Given the description of an element on the screen output the (x, y) to click on. 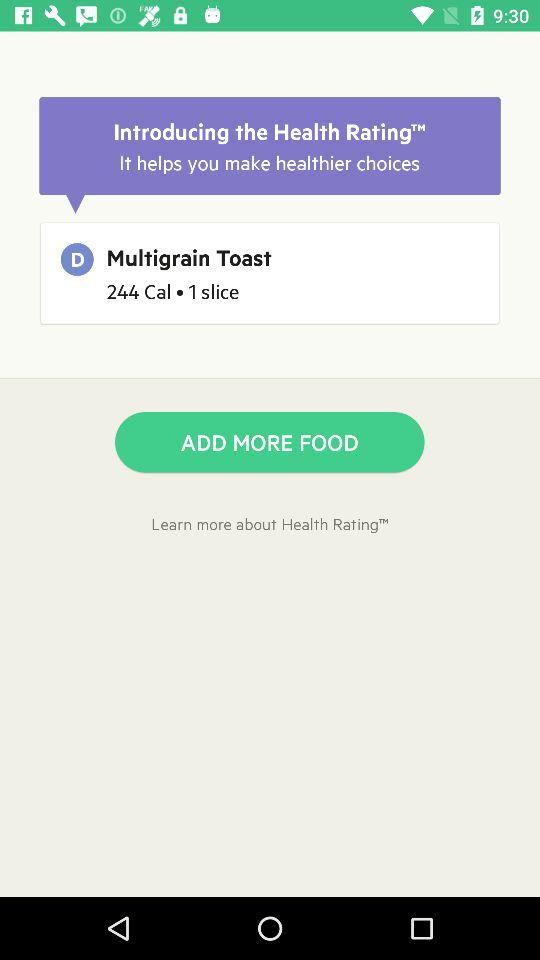
swipe until the add more food (269, 442)
